Given the description of an element on the screen output the (x, y) to click on. 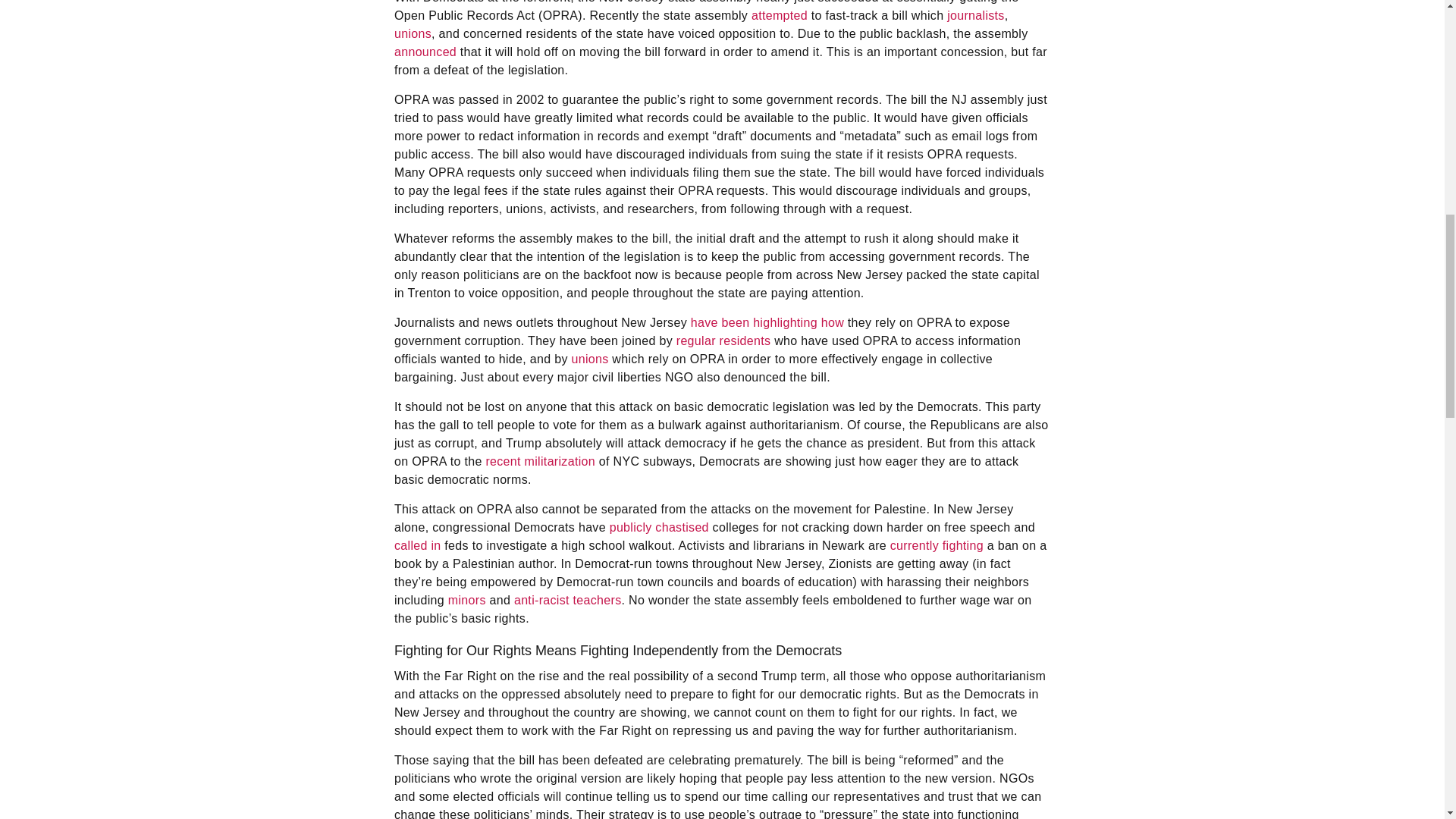
journalists (975, 15)
unions (412, 33)
announced (425, 51)
attempted (779, 15)
